Given the description of an element on the screen output the (x, y) to click on. 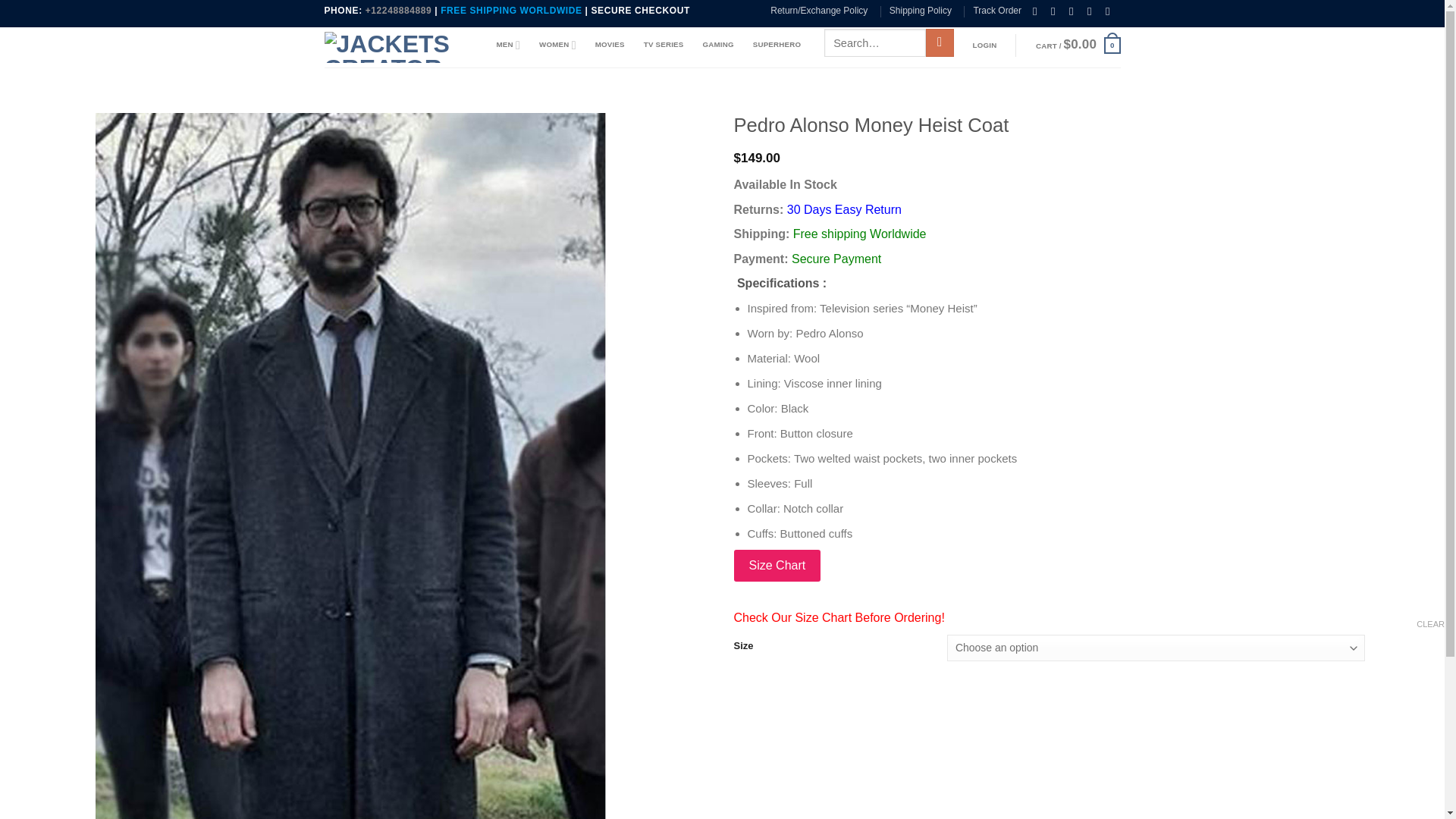
TV SERIES (663, 44)
Cart (1078, 45)
GAMING (717, 44)
Shipping Policy (920, 11)
Jackets Creator (399, 47)
Track Order (997, 11)
WOMEN (557, 44)
